Given the description of an element on the screen output the (x, y) to click on. 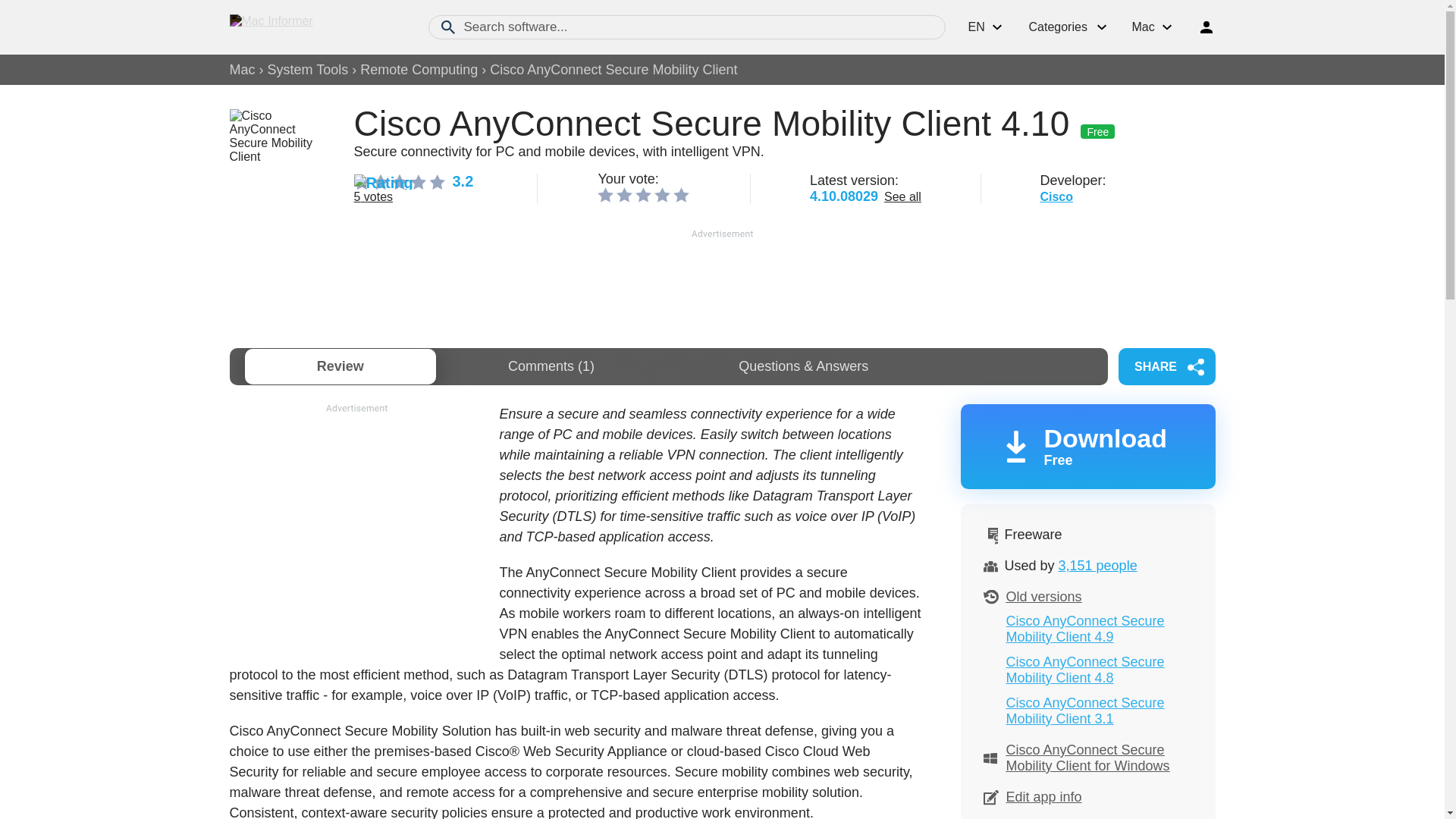
5 (680, 193)
5 votes (373, 196)
3 (642, 193)
Cisco AnyConnect Secure Mobility Client 4.8 (1084, 669)
Search software... (686, 27)
Cisco (1056, 195)
1 (604, 193)
Download Cisco AnyConnect Secure Mobility Client (1086, 446)
4 (661, 193)
See all (902, 195)
Cisco AnyConnect Secure Mobility Client for Windows (1087, 757)
Mac (241, 69)
Remote Computing (1086, 446)
System Tools (418, 69)
